Given the description of an element on the screen output the (x, y) to click on. 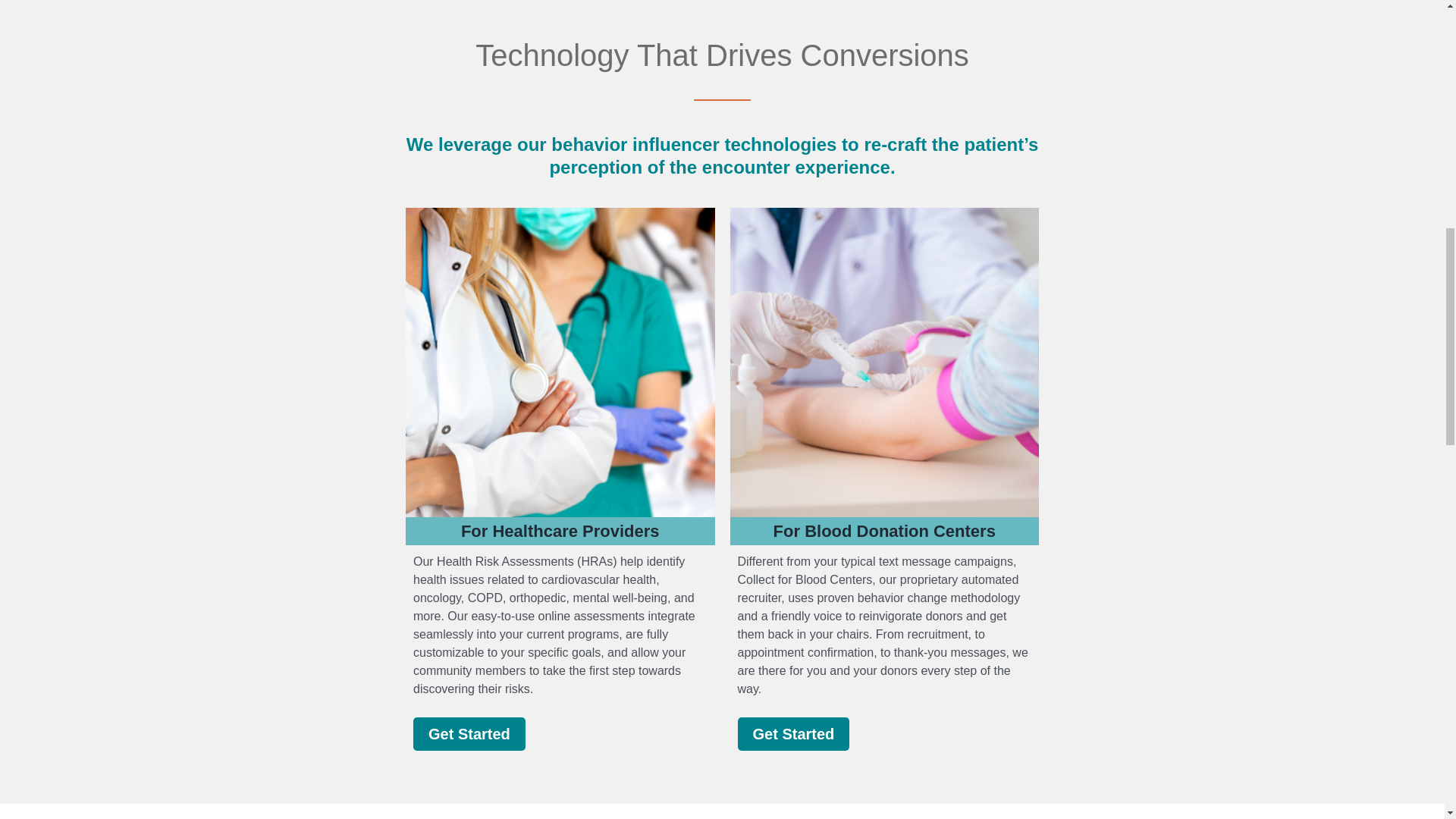
Get Started (792, 734)
Get Started (469, 734)
